Given the description of an element on the screen output the (x, y) to click on. 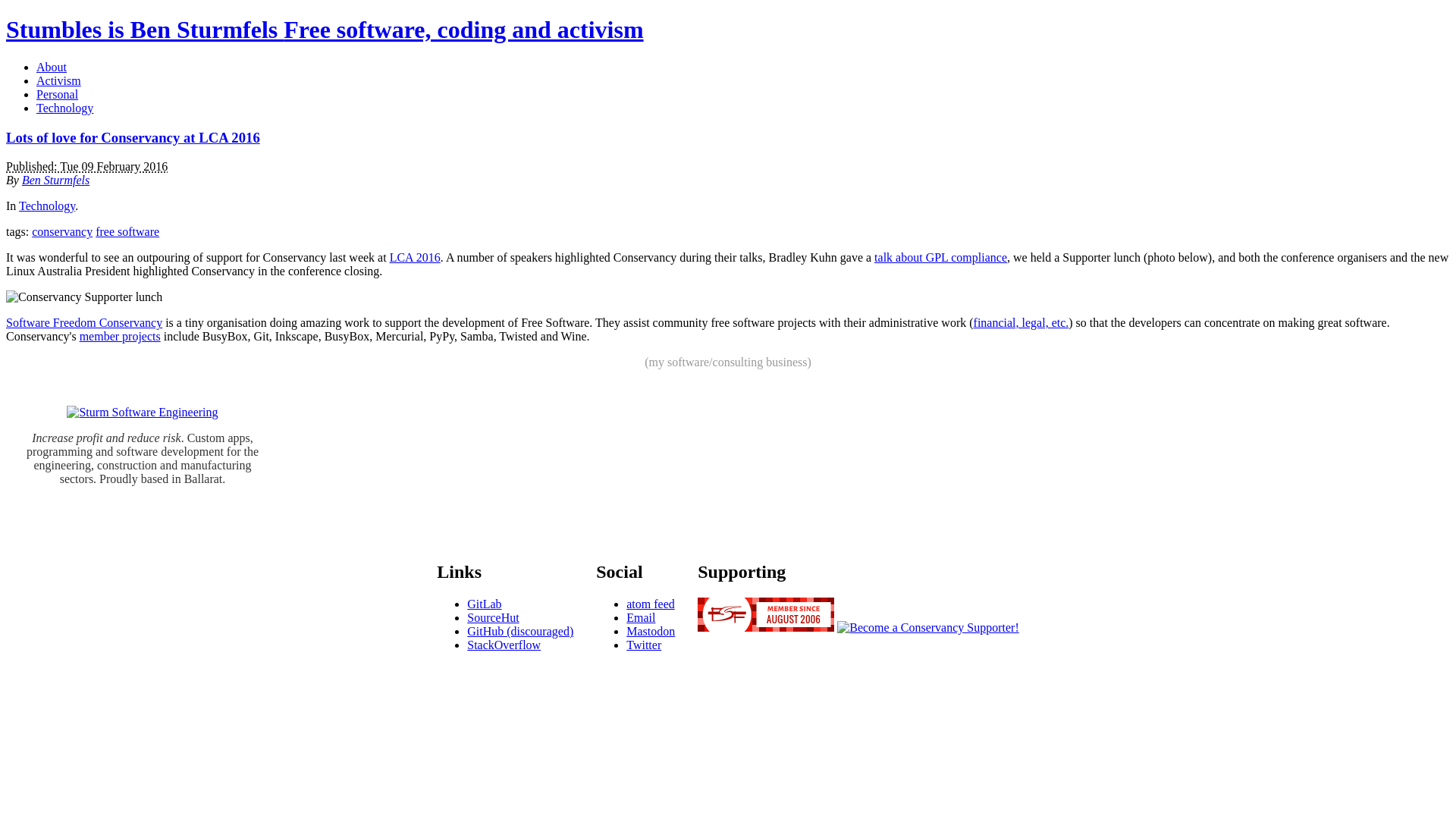
financial, legal, etc. Element type: text (1021, 322)
GitLab Element type: text (484, 603)
Ben Sturmfels Element type: text (55, 179)
Stumbles is Ben Sturmfels Free software, coding and activism Element type: text (324, 29)
Email Element type: text (640, 617)
GitHub (discouraged) Element type: text (520, 630)
Personal Element type: text (57, 93)
atom feed Element type: text (650, 603)
Technology Element type: text (46, 205)
Software Freedom Conservancy Element type: text (84, 322)
Twitter Element type: text (643, 644)
Technology Element type: text (64, 107)
conservancy Element type: text (61, 231)
Mastodon Element type: text (650, 630)
free software Element type: text (127, 231)
SourceHut Element type: text (492, 617)
member projects Element type: text (119, 335)
StackOverflow Element type: text (503, 644)
About Element type: text (51, 66)
talk about GPL compliance Element type: text (940, 257)
Lots of love for Conservancy at LCA 2016 Element type: text (133, 137)
LCA 2016 Element type: text (414, 257)
Activism Element type: text (58, 80)
